Given the description of an element on the screen output the (x, y) to click on. 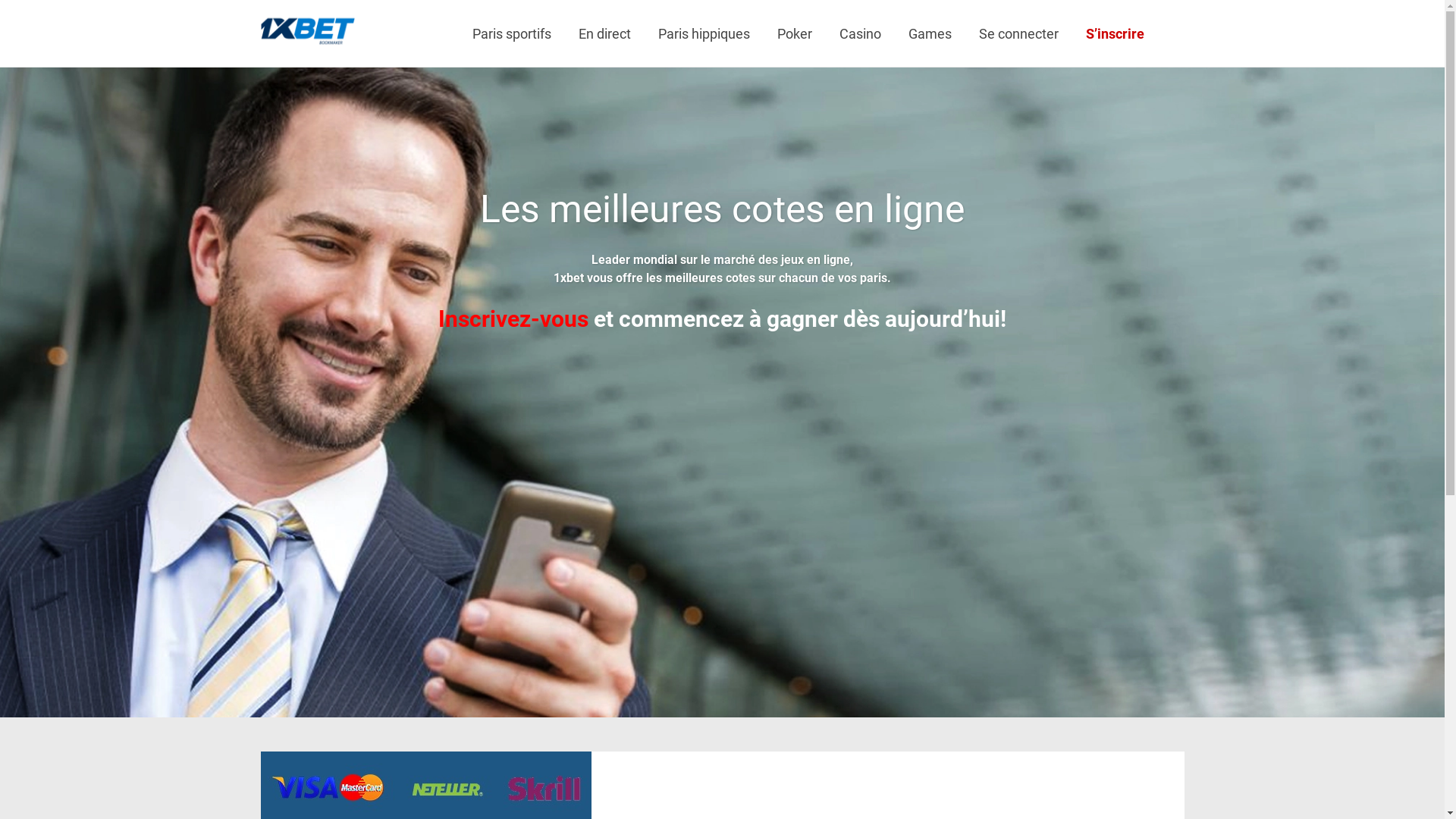
Paris hippiques Element type: text (703, 34)
Games Element type: text (929, 34)
Casino Element type: text (859, 34)
Paris sportifs Element type: text (511, 34)
Inscrivez-vous Element type: text (513, 318)
Les meilleures cotes en ligne Element type: text (722, 209)
En direct Element type: text (603, 34)
Poker Element type: text (793, 34)
Se connecter Element type: text (1017, 34)
